Given the description of an element on the screen output the (x, y) to click on. 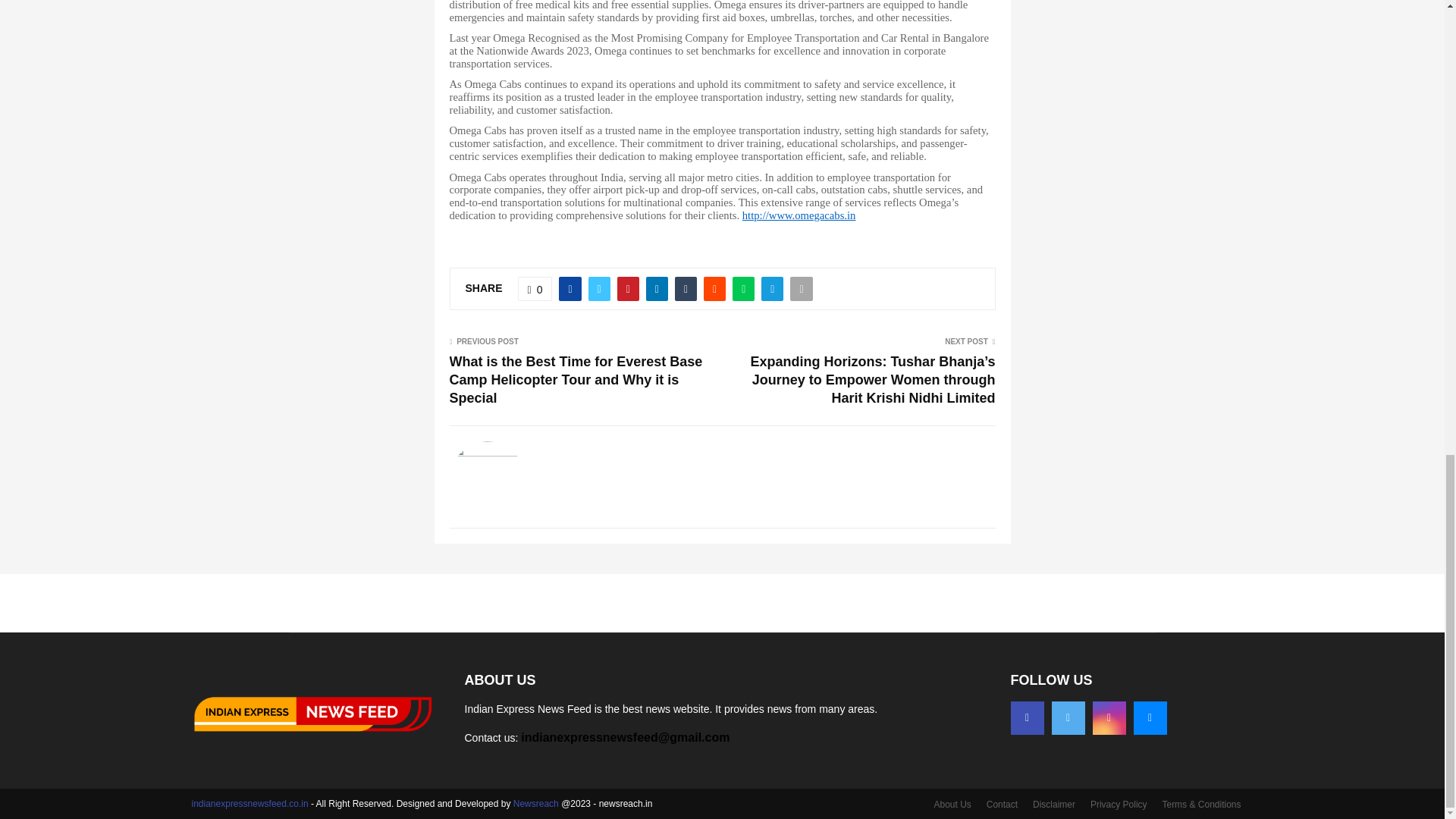
Like (535, 288)
0 (535, 288)
Facebook (1026, 717)
